Given the description of an element on the screen output the (x, y) to click on. 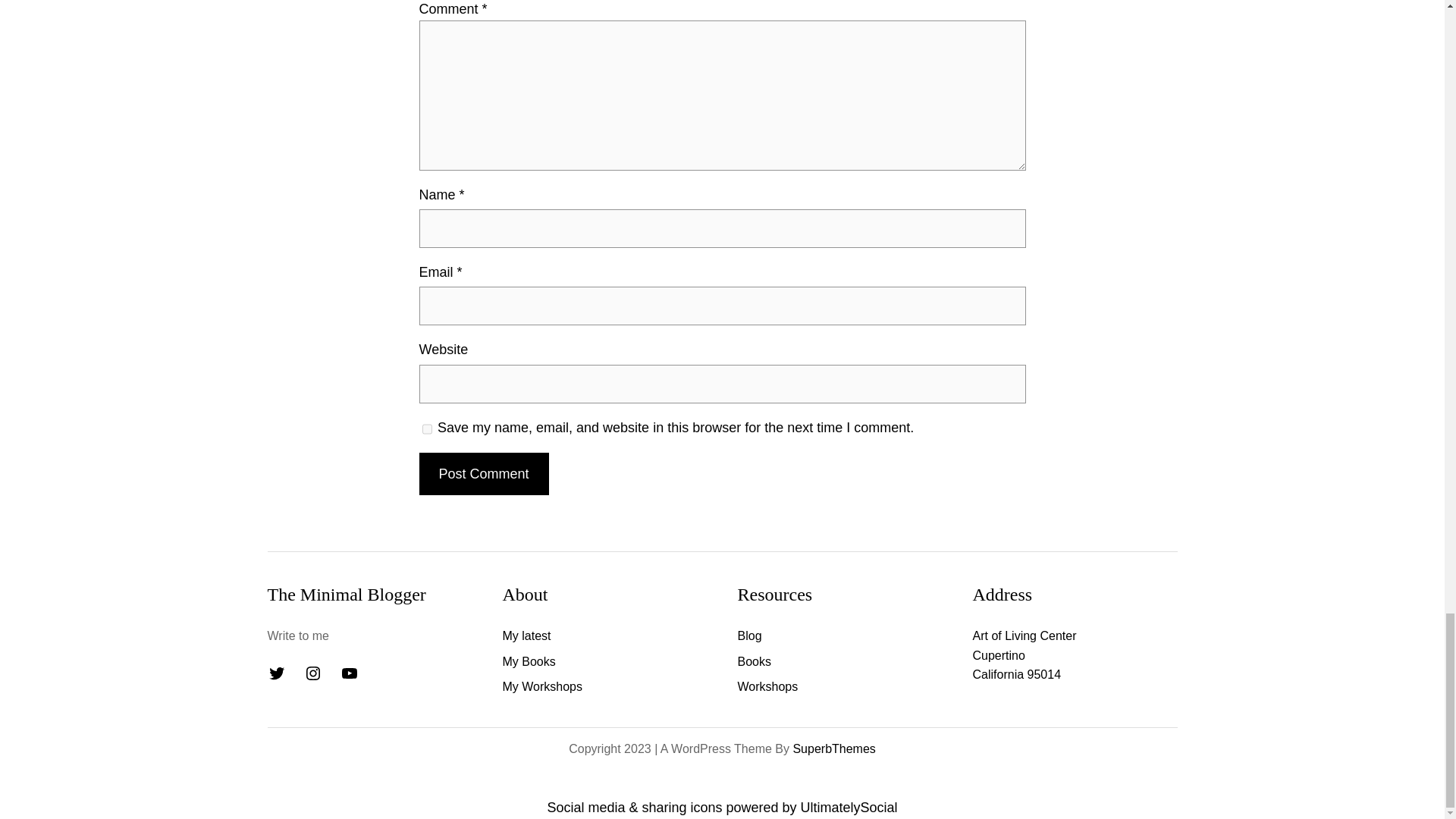
UltimatelySocial (849, 807)
Workshops (766, 686)
Twitter (275, 673)
Instagram (311, 673)
Post Comment (483, 474)
SuperbThemes (833, 748)
My Books (528, 661)
Books (753, 661)
My Workshops (542, 686)
YouTube (348, 673)
